Given the description of an element on the screen output the (x, y) to click on. 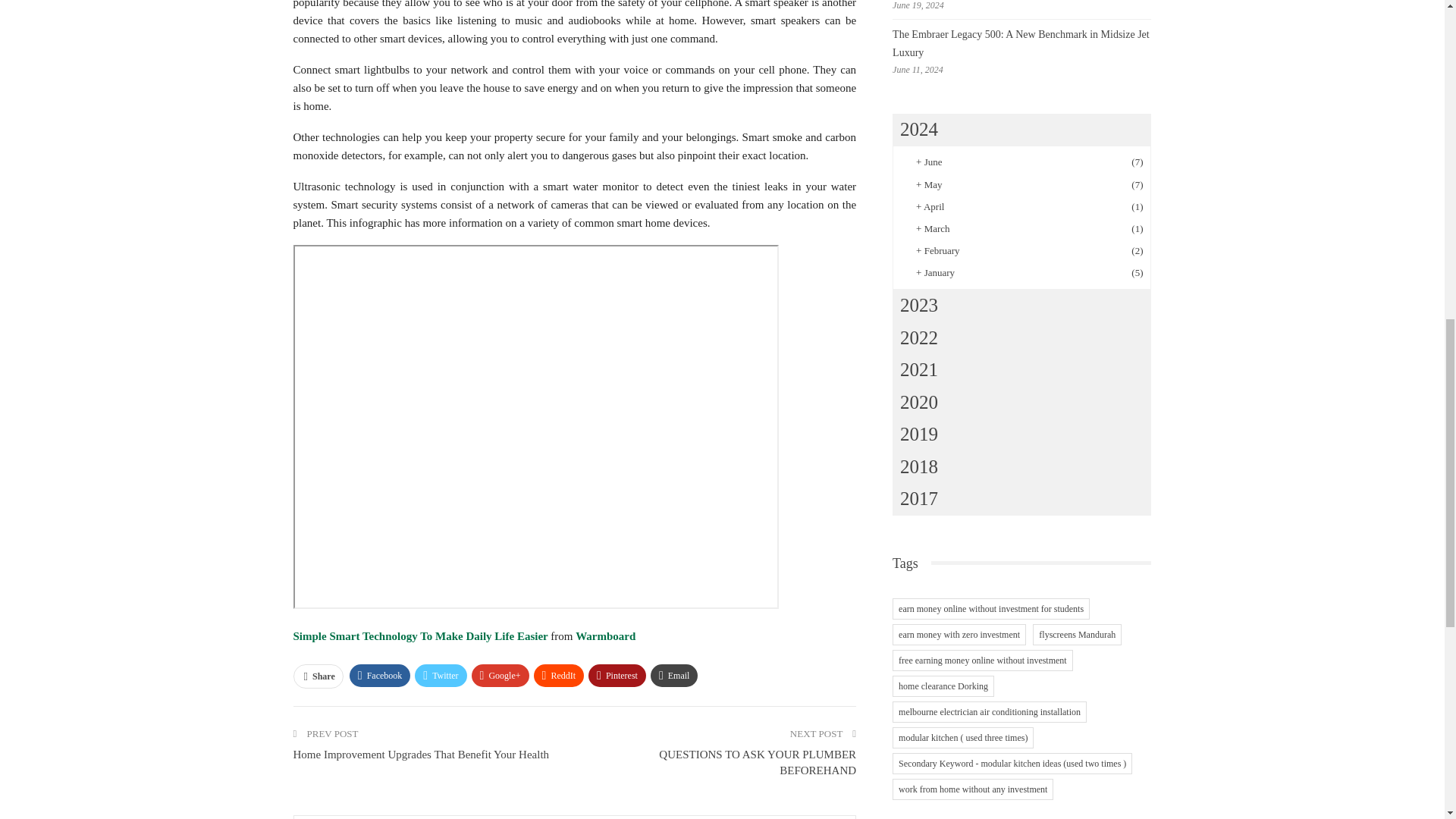
Simple Smart Technology To Make Daily Life Easier (421, 635)
Home Improvement Upgrades That Benefit Your Health (420, 754)
QUESTIONS TO ASK YOUR PLUMBER BEFOREHAND (757, 762)
Warmboard (604, 635)
Pinterest (617, 675)
ReddIt (559, 675)
Facebook (379, 675)
Simple Smart Technology To Make Daily Life Easier (421, 635)
Email (674, 675)
Twitter (439, 675)
